Given the description of an element on the screen output the (x, y) to click on. 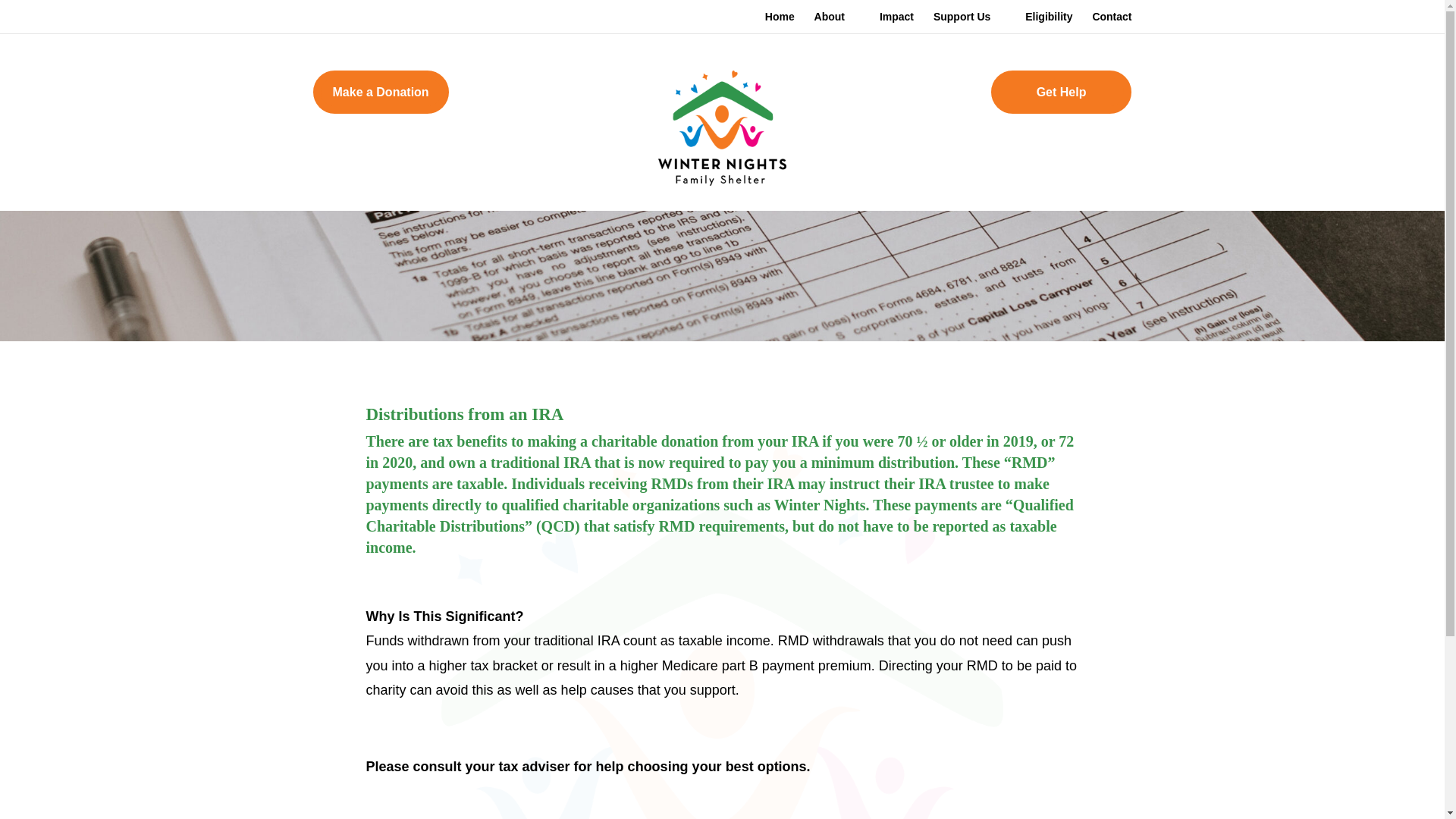
Impact (896, 22)
Contact (1111, 22)
About (836, 22)
Home (779, 22)
Get Help (1061, 91)
Support Us (969, 22)
Eligibility (1048, 22)
Make a Donation (380, 91)
